Given the description of an element on the screen output the (x, y) to click on. 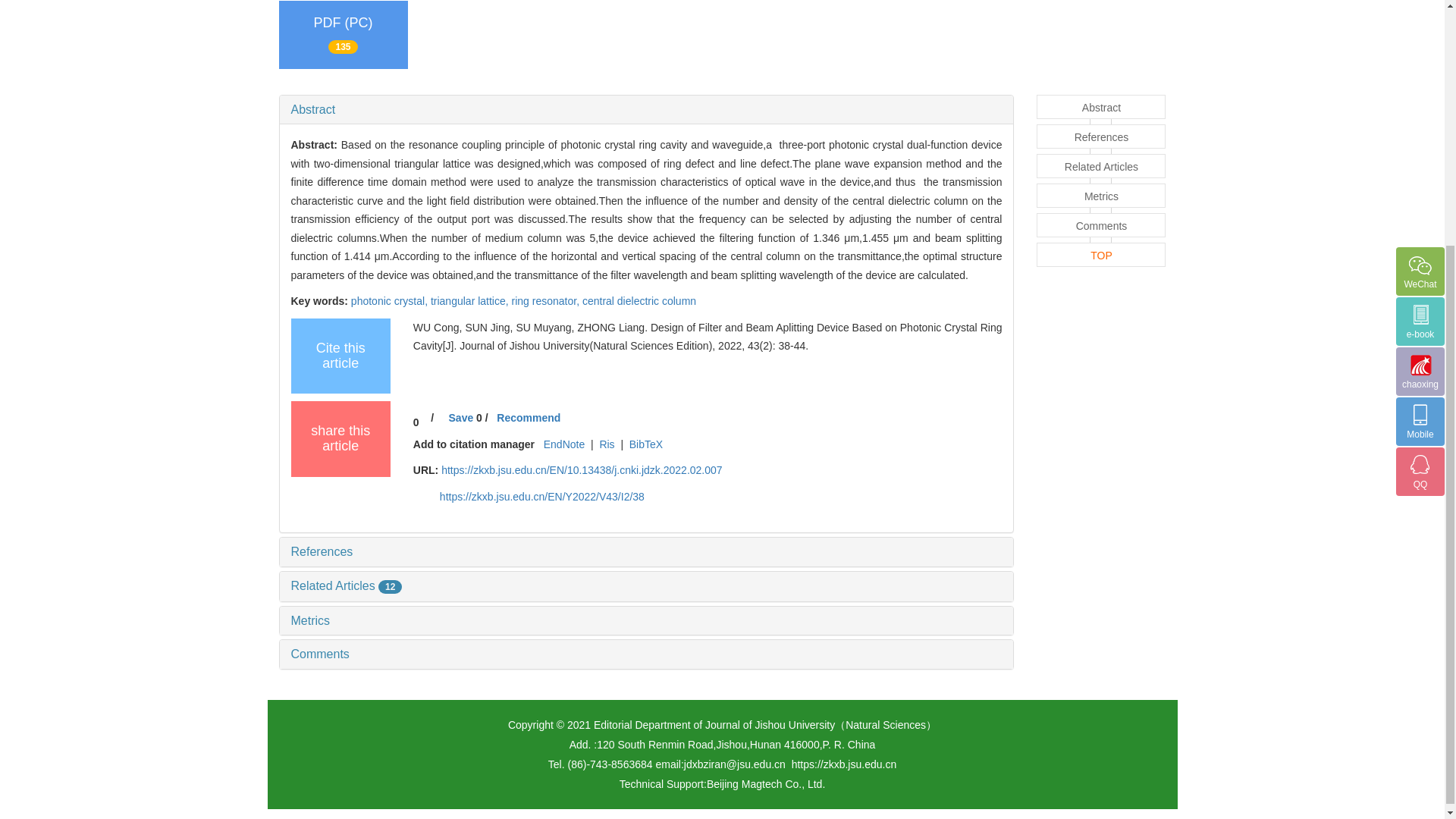
photonic crystal, (390, 300)
Abstract (313, 109)
TOP (1101, 254)
ring resonator, (547, 300)
triangular lattice, (471, 300)
